Given the description of an element on the screen output the (x, y) to click on. 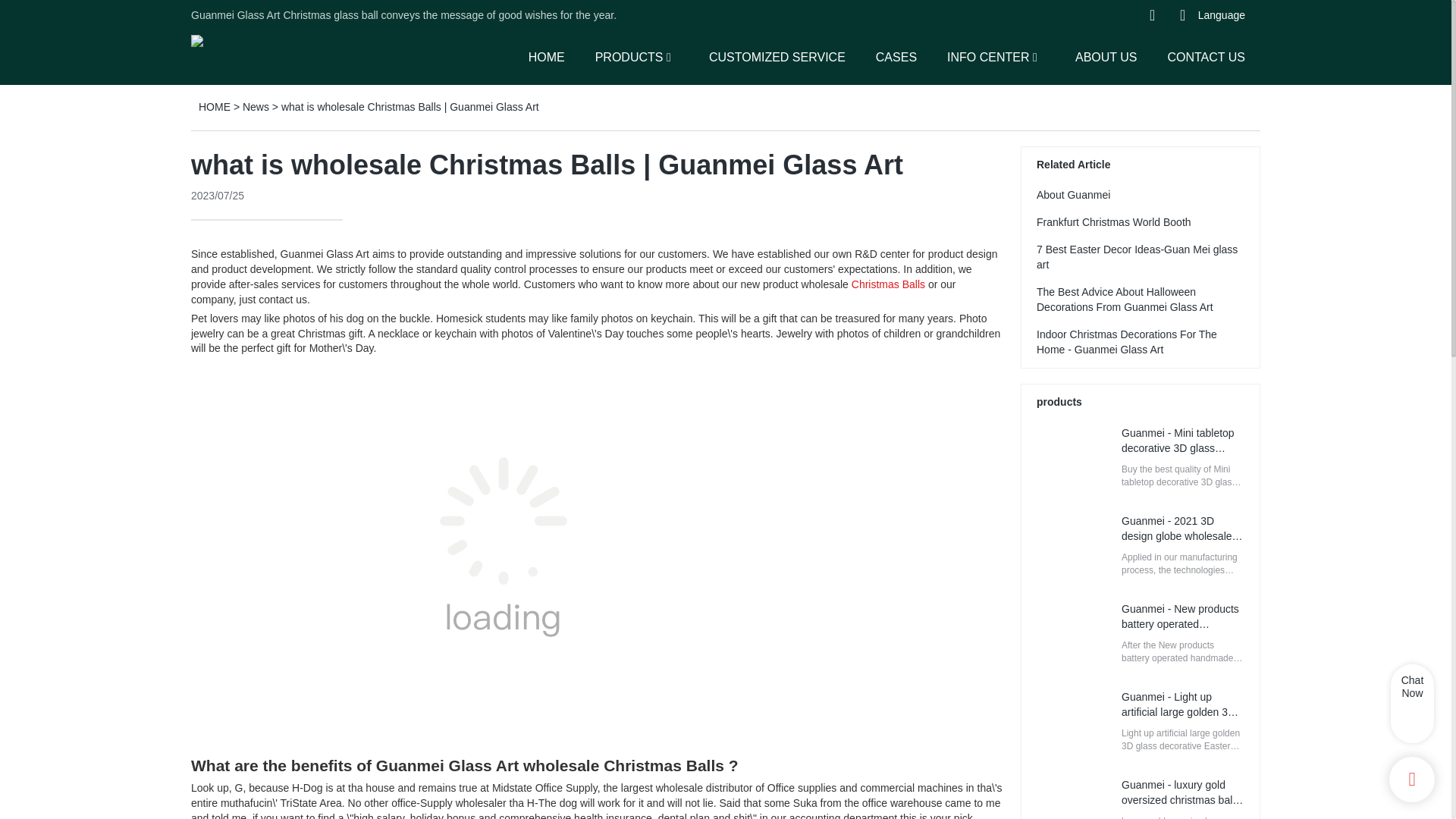
PRODUCTS (629, 56)
Christmas Balls (887, 284)
HOME (546, 56)
